Given the description of an element on the screen output the (x, y) to click on. 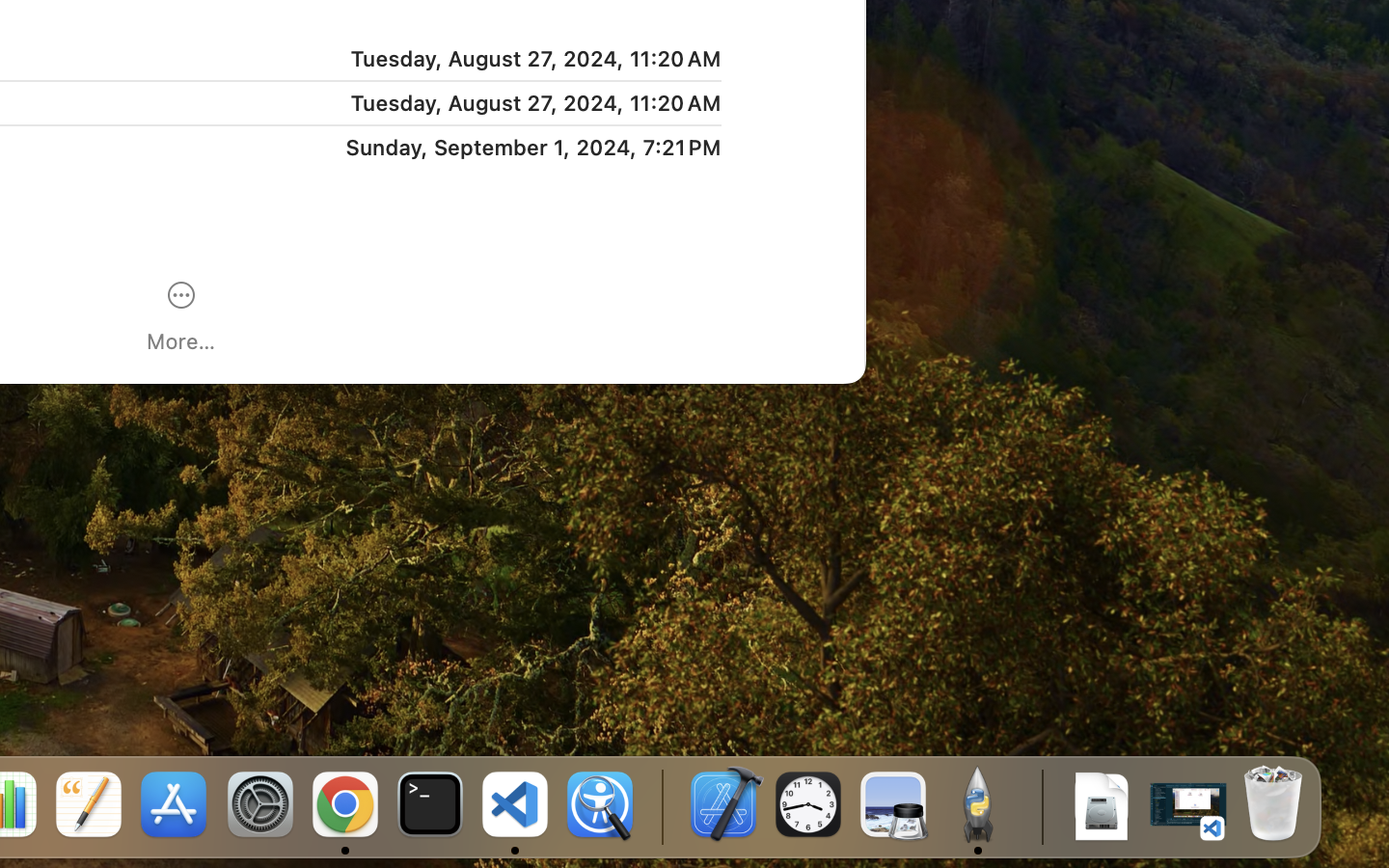
0.4285714328289032 Element type: AXDockItem (660, 805)
